Given the description of an element on the screen output the (x, y) to click on. 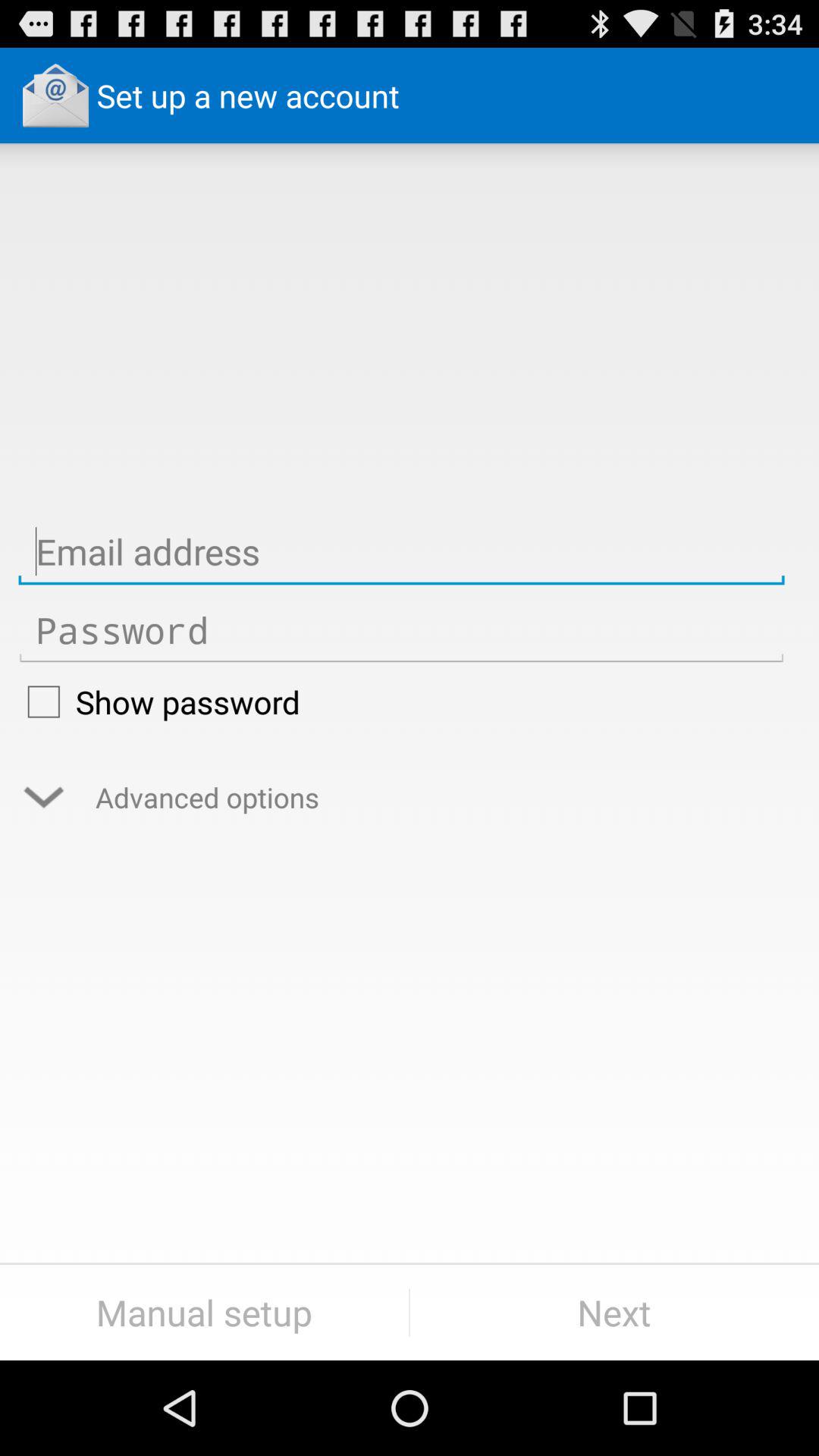
turn on button next to next item (204, 1312)
